Given the description of an element on the screen output the (x, y) to click on. 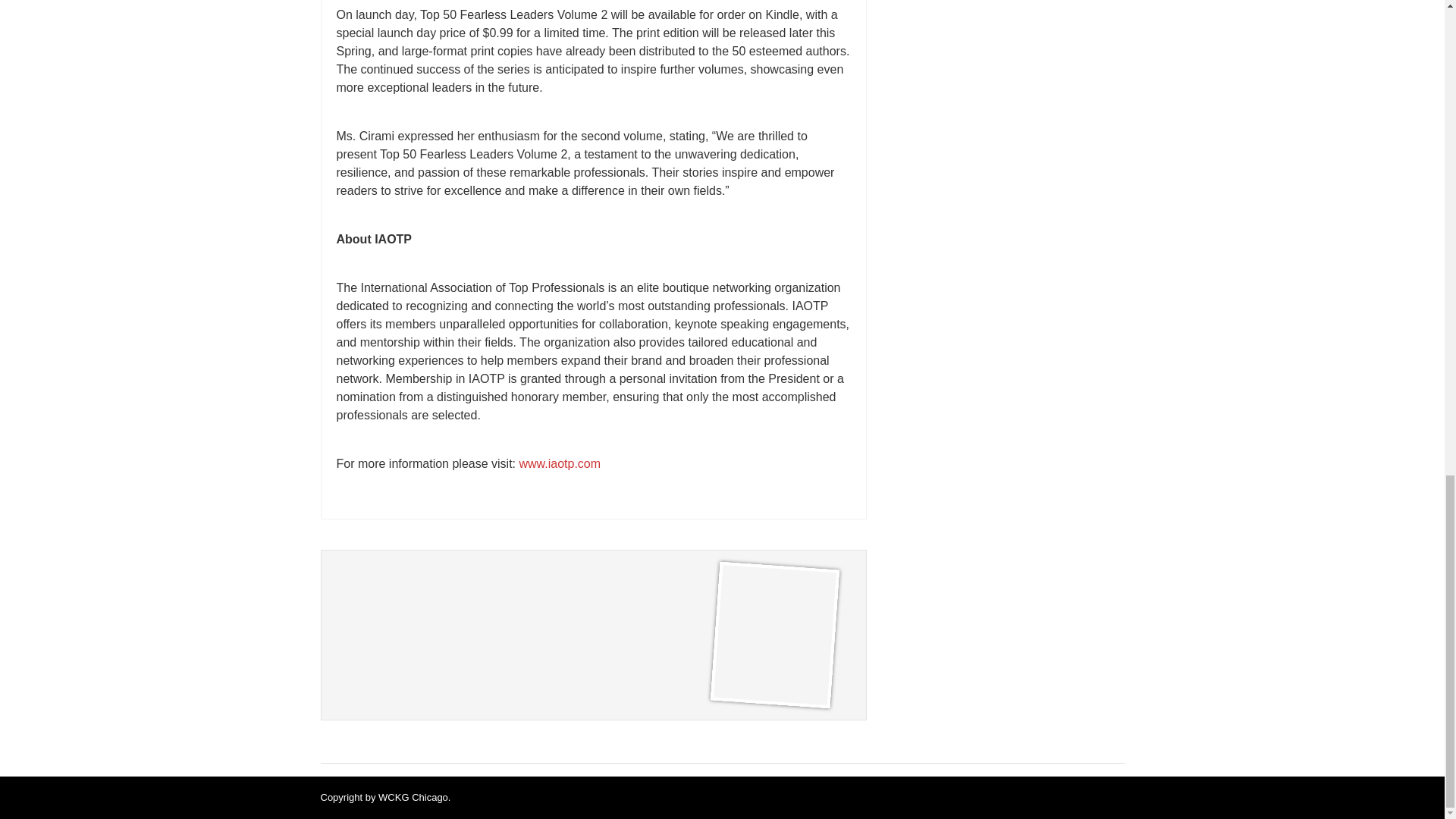
www.iaotp.com (558, 463)
